Given the description of an element on the screen output the (x, y) to click on. 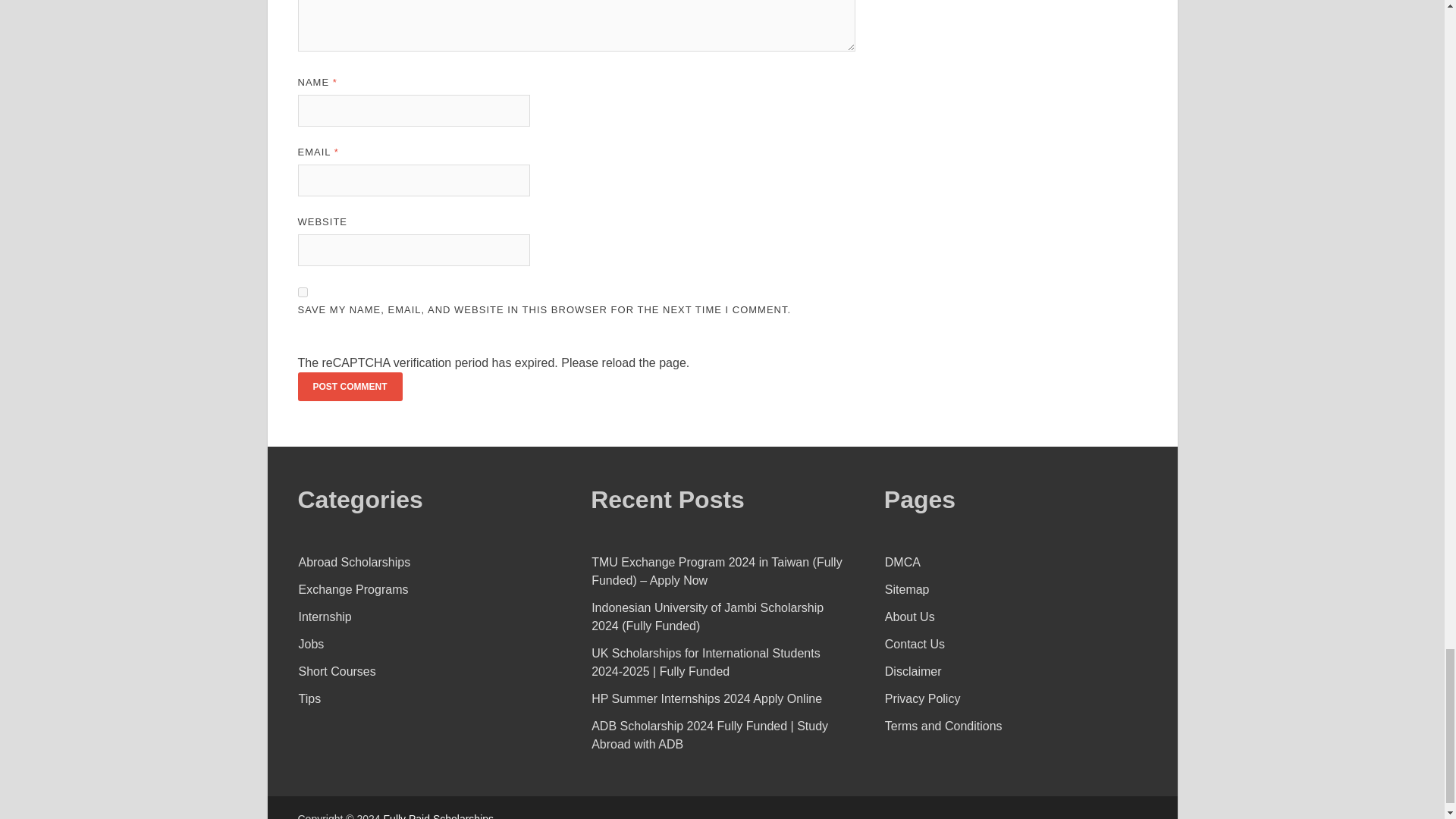
yes (302, 292)
Post Comment (349, 386)
Post Comment (349, 386)
